Given the description of an element on the screen output the (x, y) to click on. 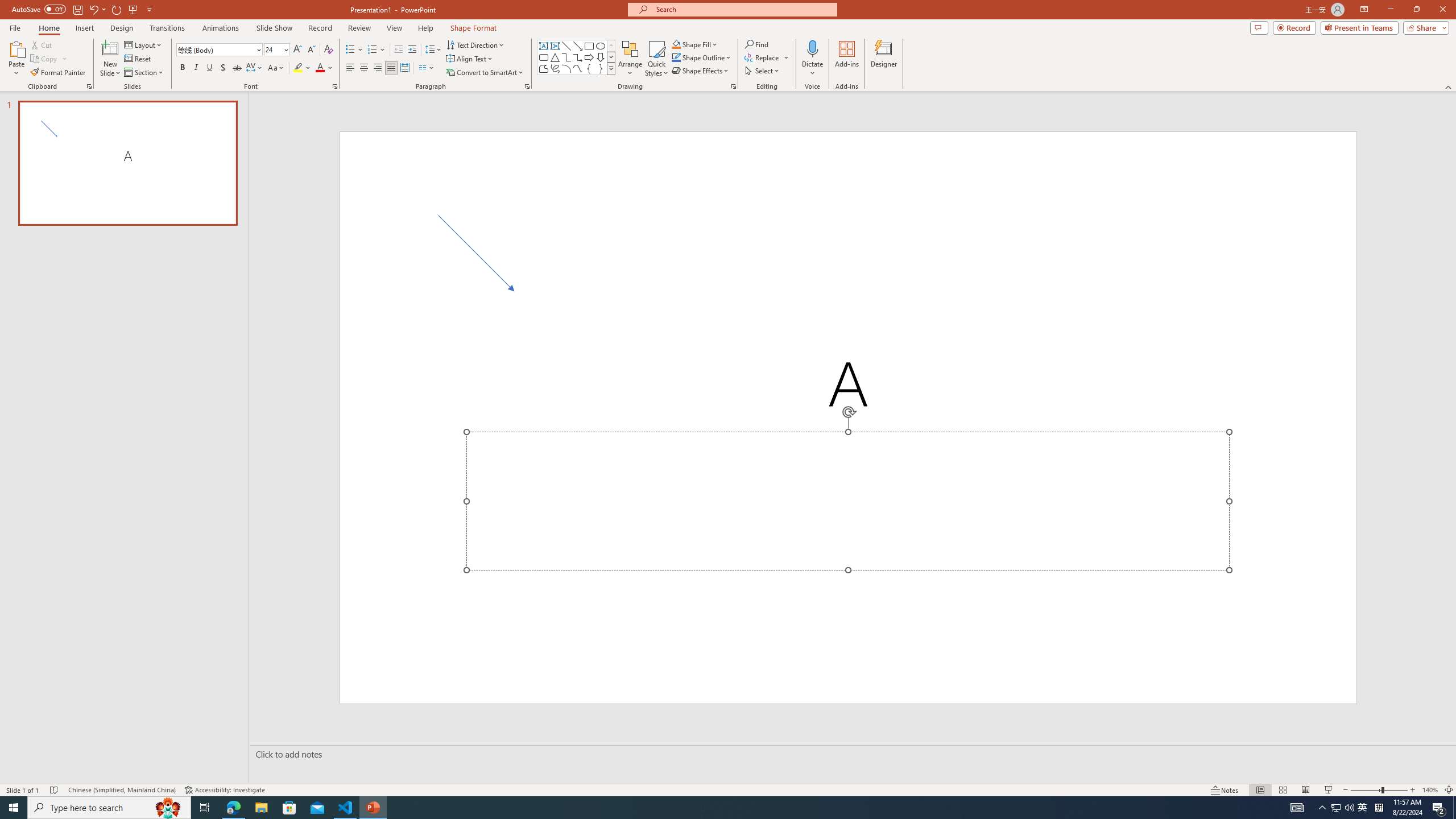
Zoom 140% (1430, 790)
